Given the description of an element on the screen output the (x, y) to click on. 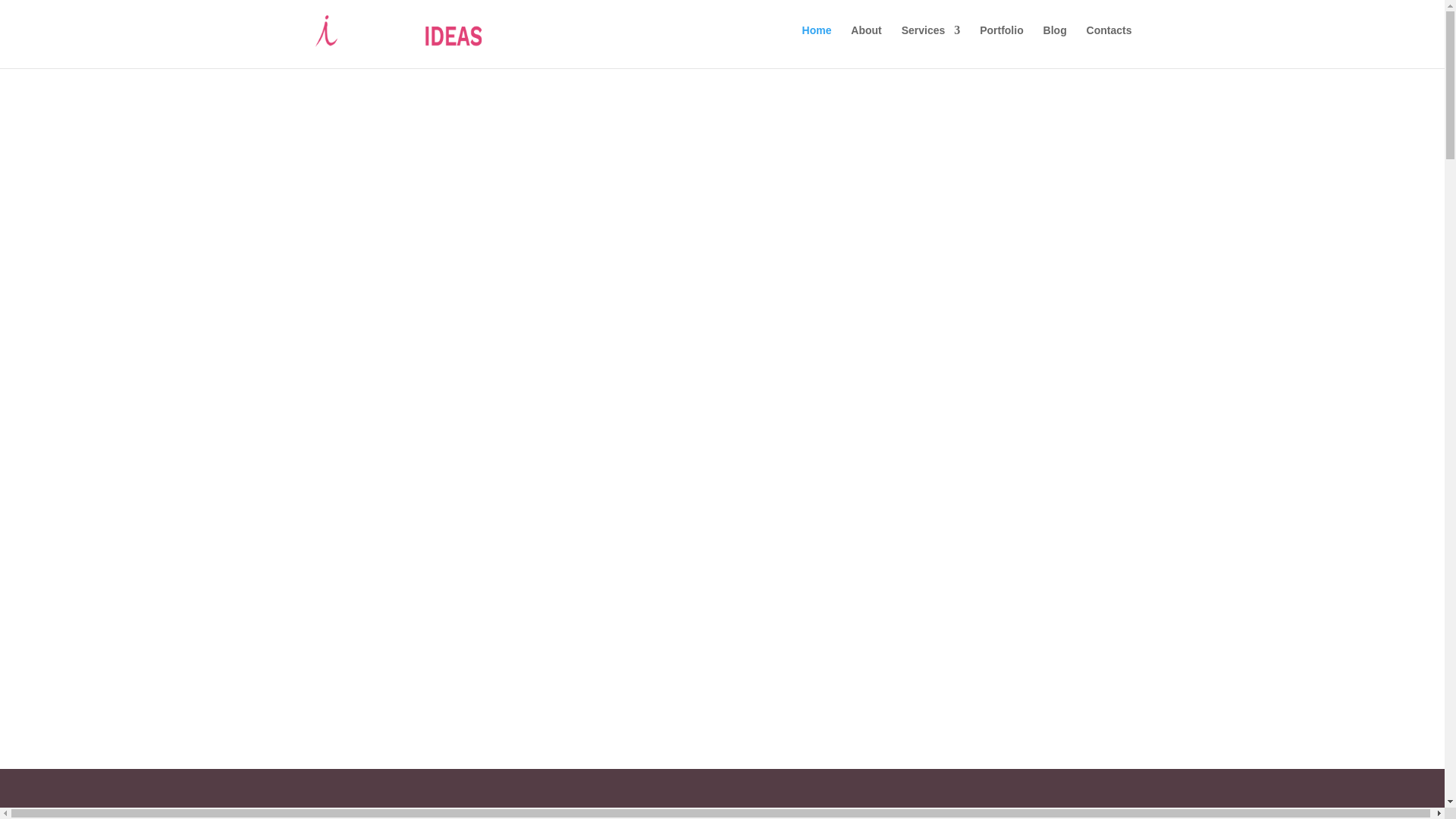
7 (722, 741)
Portfolio (1001, 42)
Our Portfolio (721, 446)
Contacts (1109, 42)
Services (930, 42)
